Given the description of an element on the screen output the (x, y) to click on. 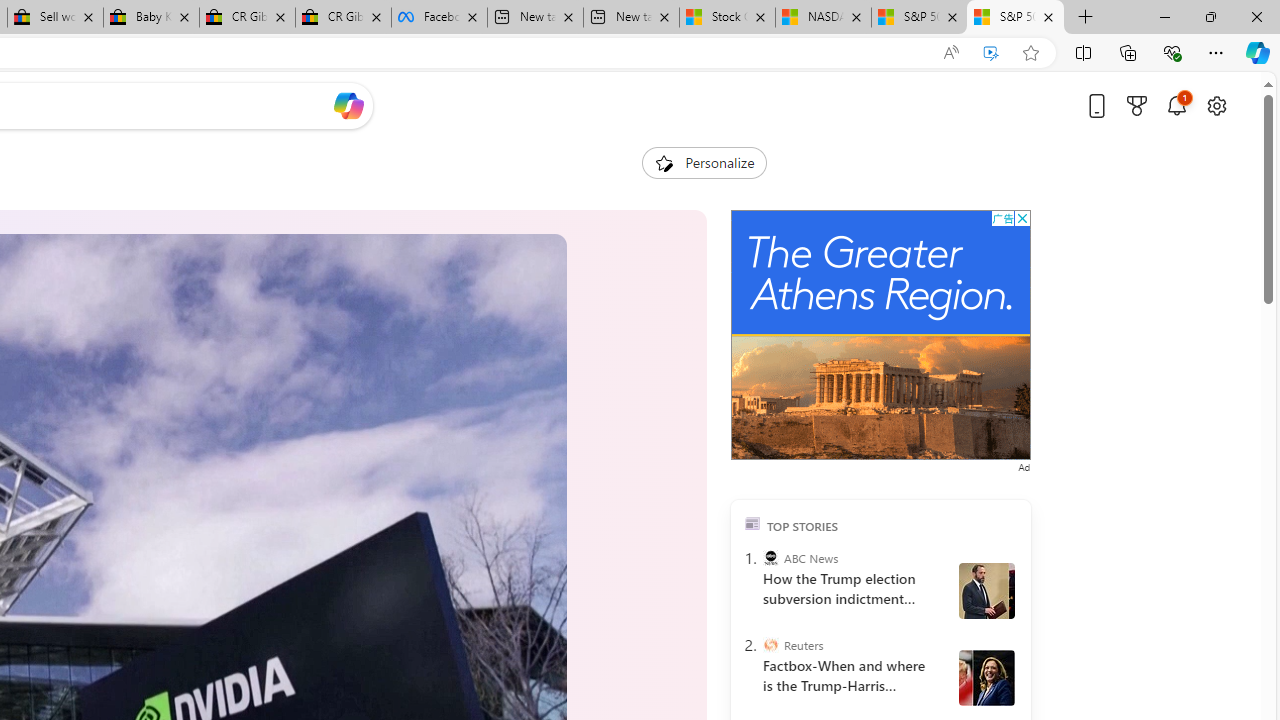
Baby Keepsakes & Announcements for sale | eBay (150, 17)
Open settings (1216, 105)
